Given the description of an element on the screen output the (x, y) to click on. 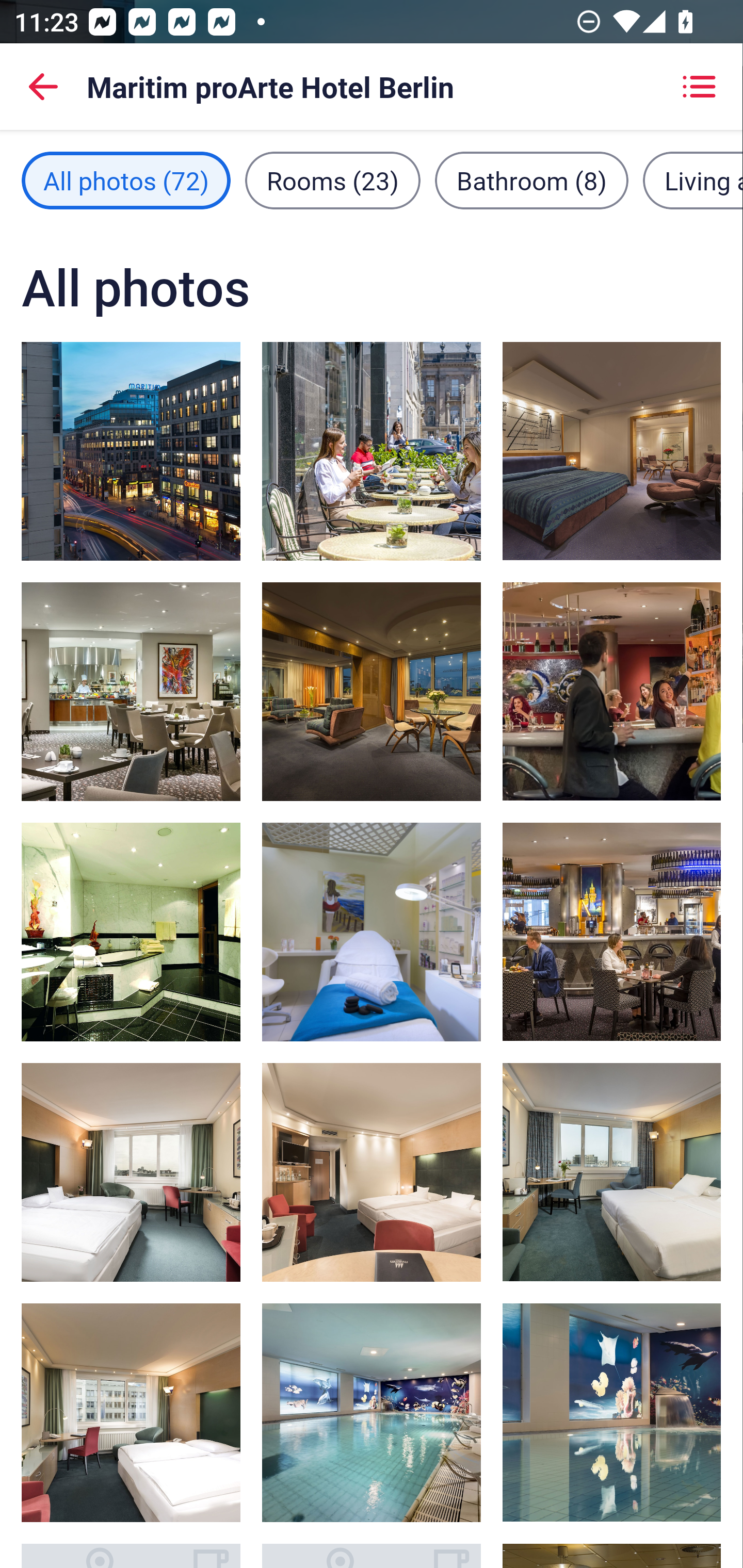
Back (43, 86)
Showing grid view (699, 86)
All photos filter, 72 images (125, 180)
Rooms filter, 23 images (332, 180)
Bathroom filter, 8 images (531, 180)
Exterior, image (130, 451)
Serves lunch and dinner, image (371, 451)
Daily buffet breakfast (EUR 24 per person), image (130, 691)
Serves lunch and dinner, image (611, 691)
Serves lunch and dinner, image (611, 932)
Superior Double Room | View from room, image (611, 1172)
Indoor pool, image (371, 1412)
Indoor pool, image (611, 1411)
